Given the description of an element on the screen output the (x, y) to click on. 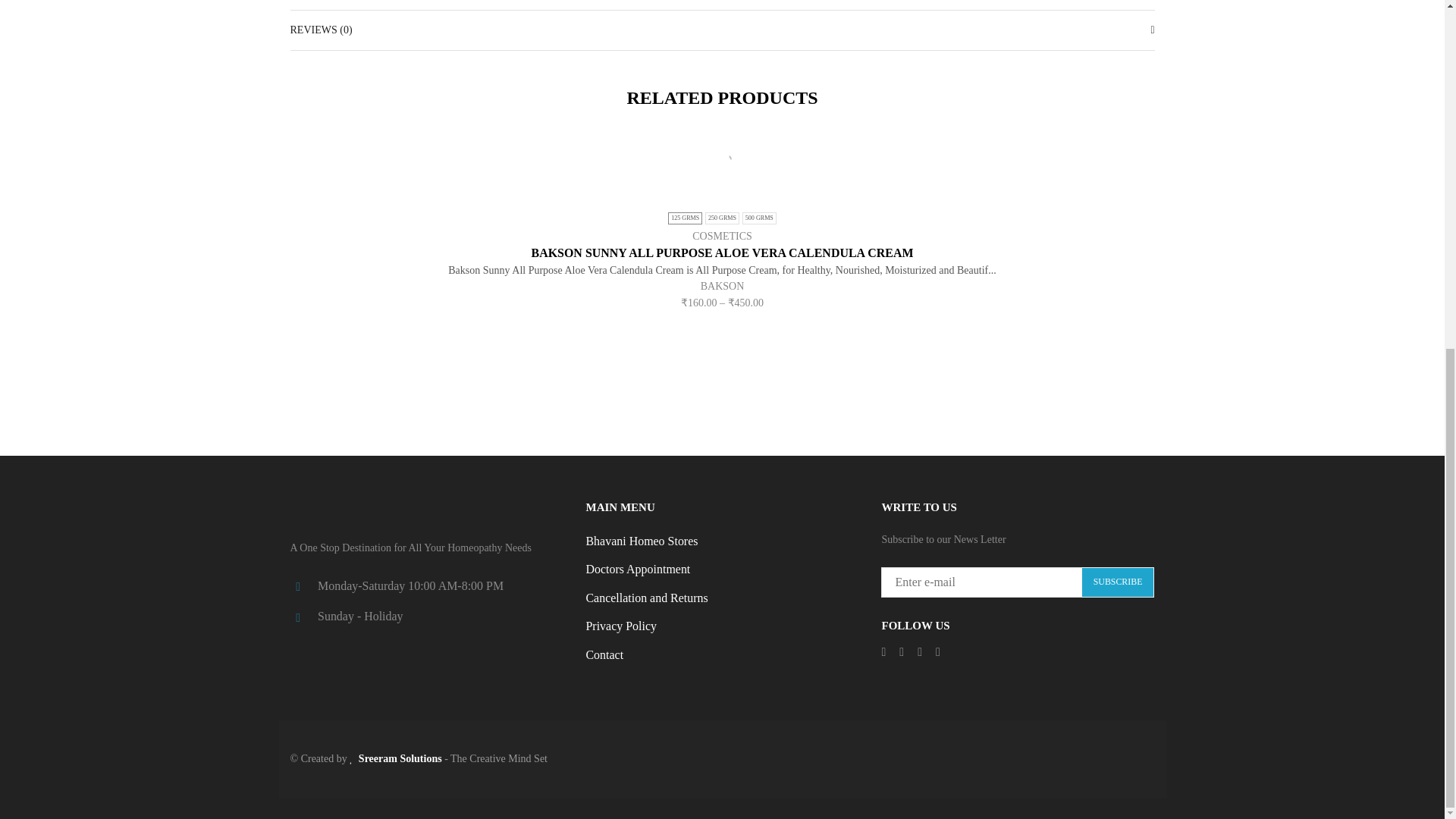
Subscribe (1117, 582)
